Given the description of an element on the screen output the (x, y) to click on. 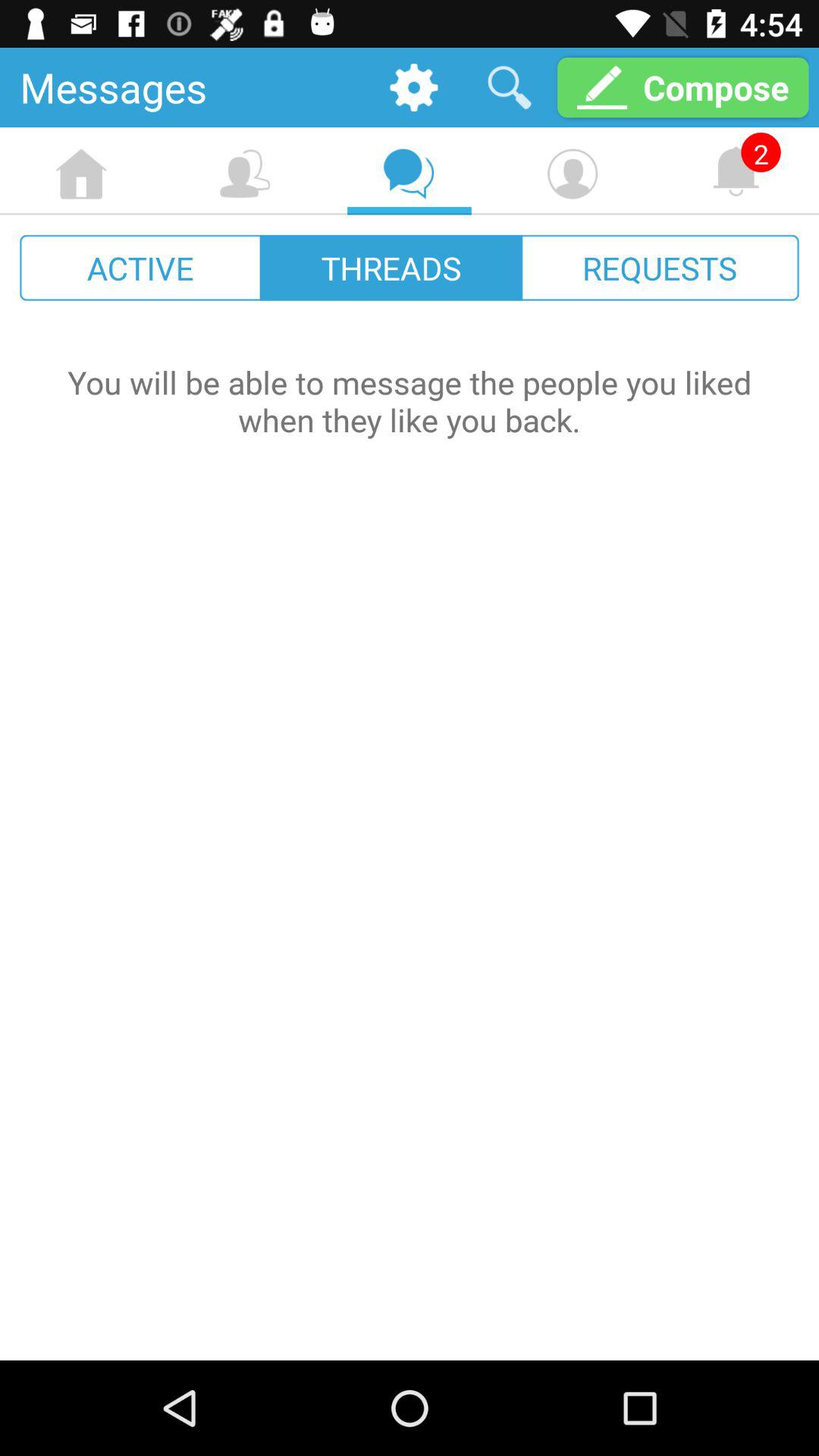
turn on compose (682, 87)
